Given the description of an element on the screen output the (x, y) to click on. 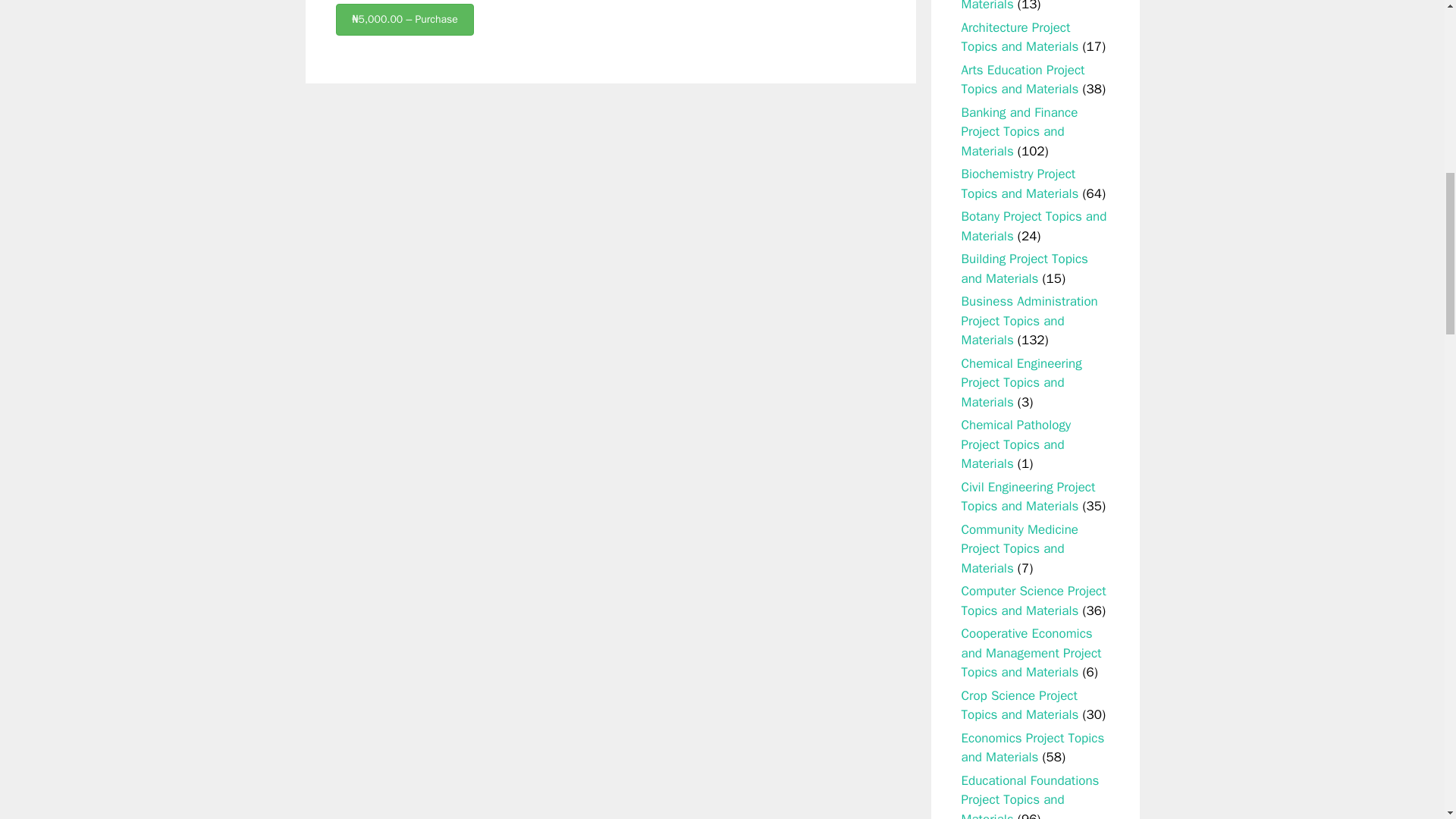
Chemical Pathology Project Topics and Materials (1015, 443)
Banking and Finance Project Topics and Materials (1019, 131)
Scroll back to top (1406, 720)
Crop Science Project Topics and Materials (1019, 705)
Economics Project Topics and Materials (1032, 747)
Arts Education Project Topics and Materials (1022, 79)
Architecture Project Topics and Materials (1019, 37)
Community Medicine Project Topics and Materials (1019, 548)
Building Project Topics and Materials (1023, 268)
